Given the description of an element on the screen output the (x, y) to click on. 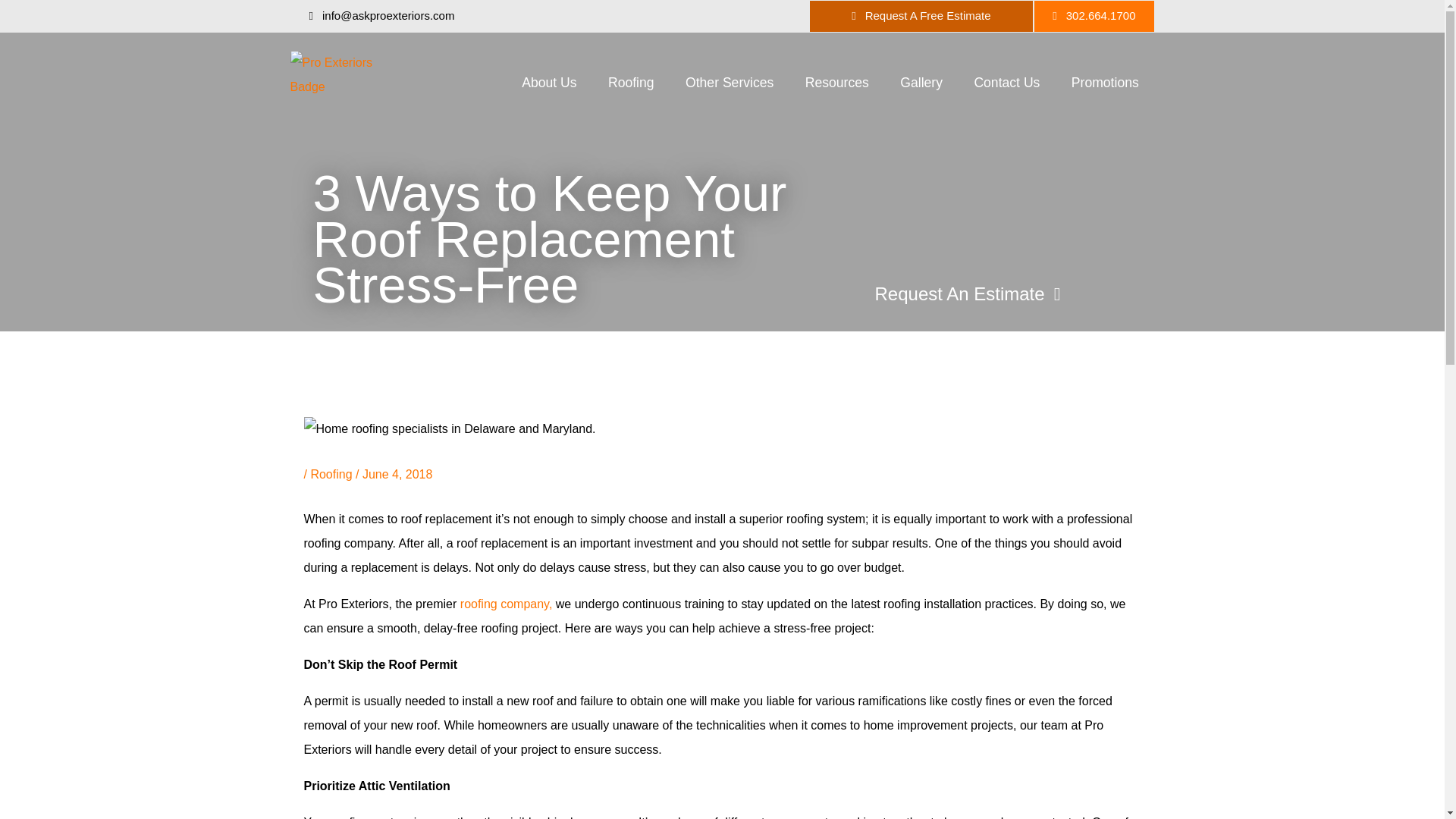
Resources (837, 82)
About Us (549, 82)
Contact Us (1006, 82)
Promotions (1104, 82)
Gallery (921, 82)
Roofing (630, 82)
302.664.1700 (1093, 15)
Other Services (729, 82)
Request A Free Estimate (921, 15)
